Given the description of an element on the screen output the (x, y) to click on. 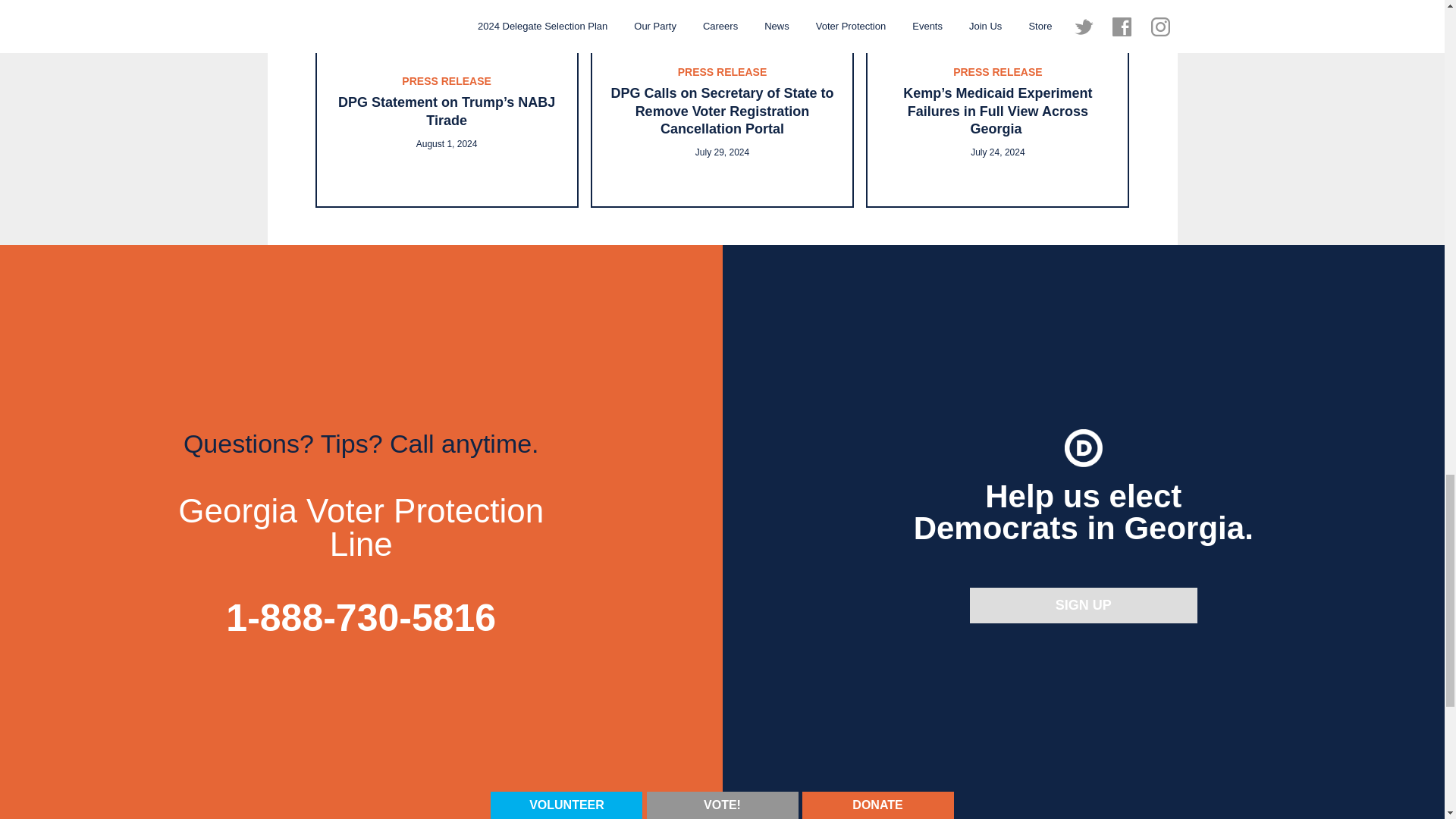
SIGN UP (1082, 605)
SIGN UP (1083, 605)
